Given the description of an element on the screen output the (x, y) to click on. 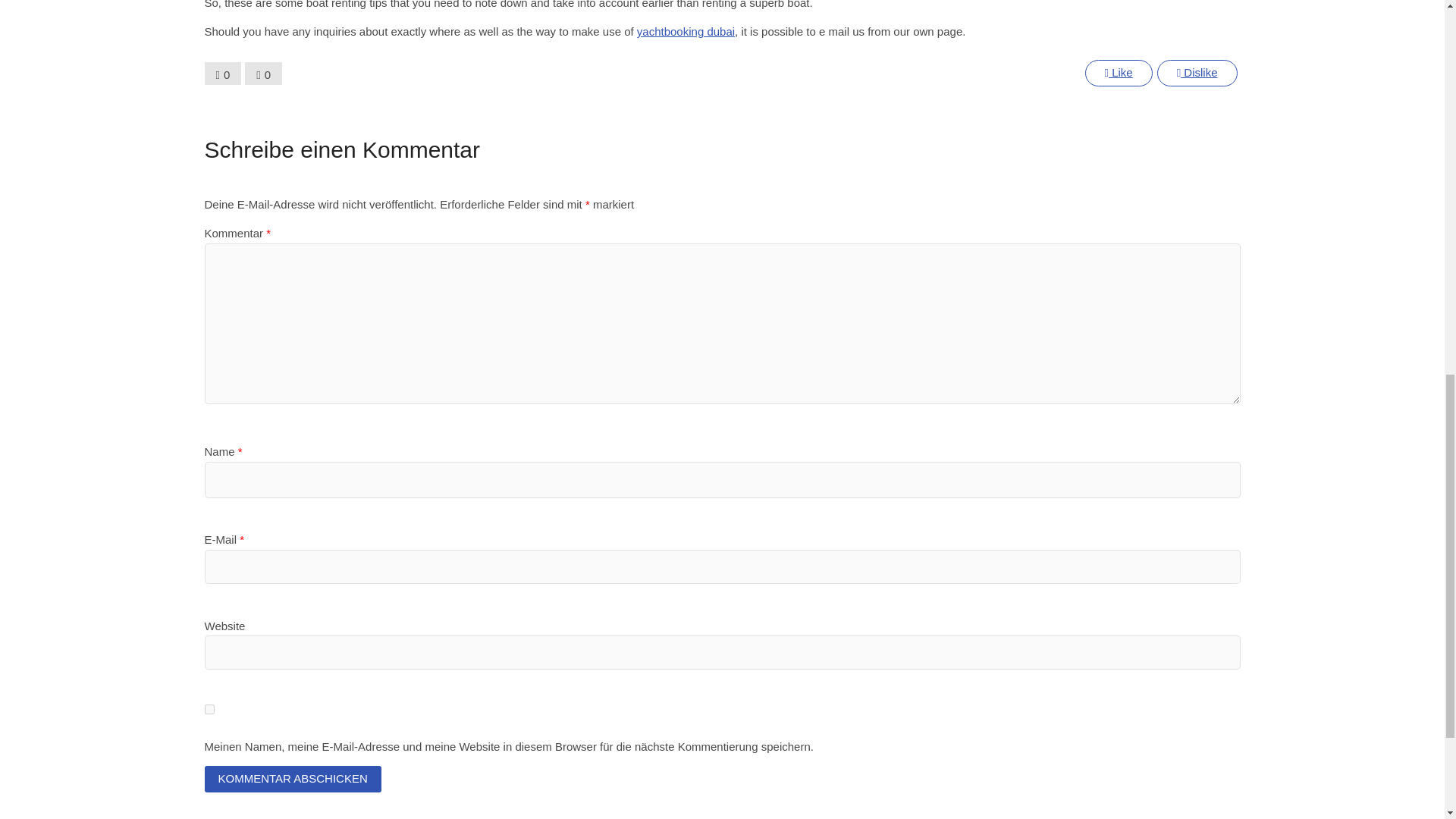
Like (1117, 72)
Dislike (1197, 72)
Kommentar abschicken (293, 778)
yachtbooking dubai (686, 31)
Kommentar abschicken (293, 778)
yes (209, 709)
